Given the description of an element on the screen output the (x, y) to click on. 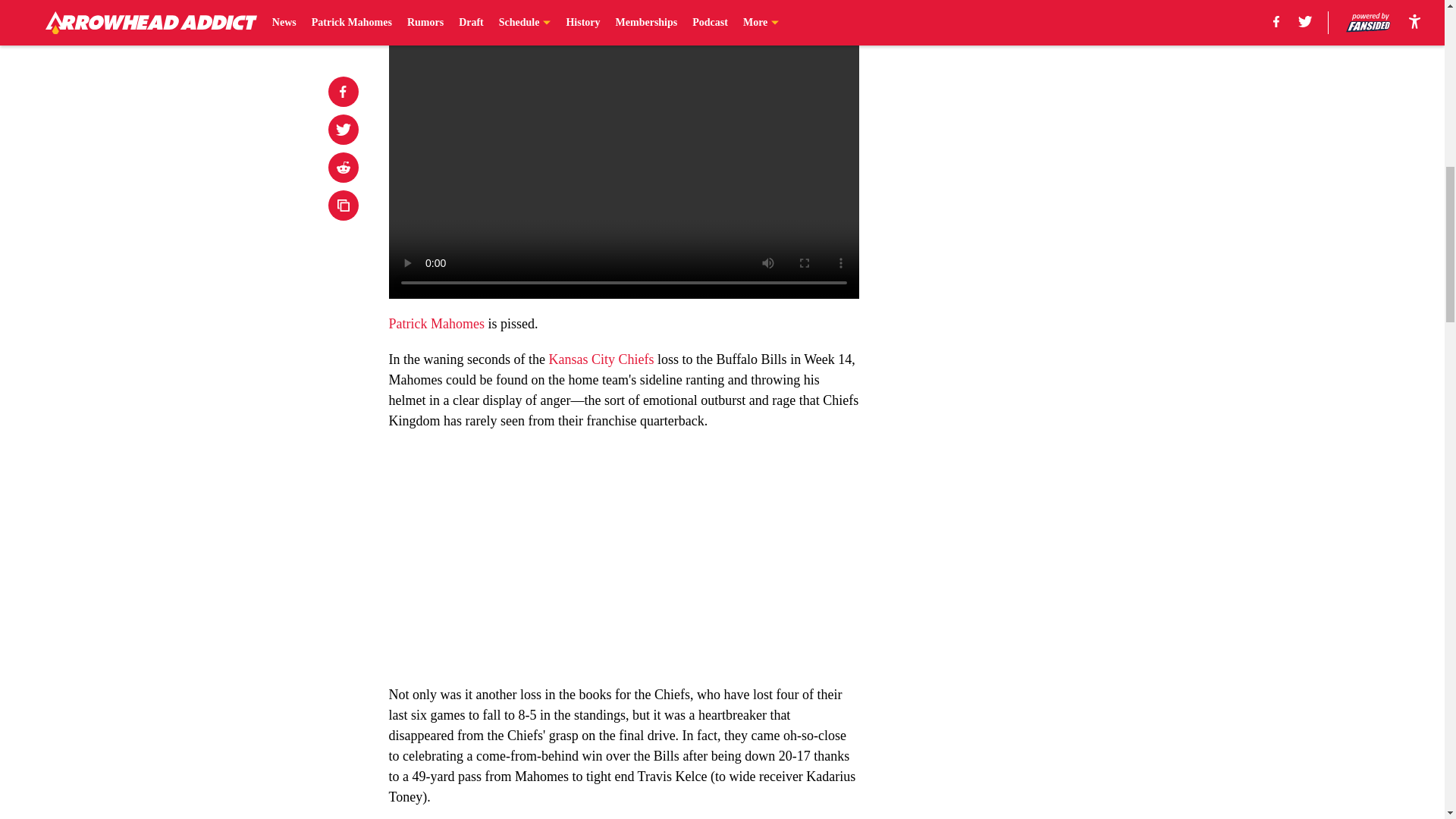
3rd party ad content (1047, 129)
3rd party ad content (1047, 349)
Kansas City Chiefs (600, 359)
Patrick Mahomes (435, 323)
